Given the description of an element on the screen output the (x, y) to click on. 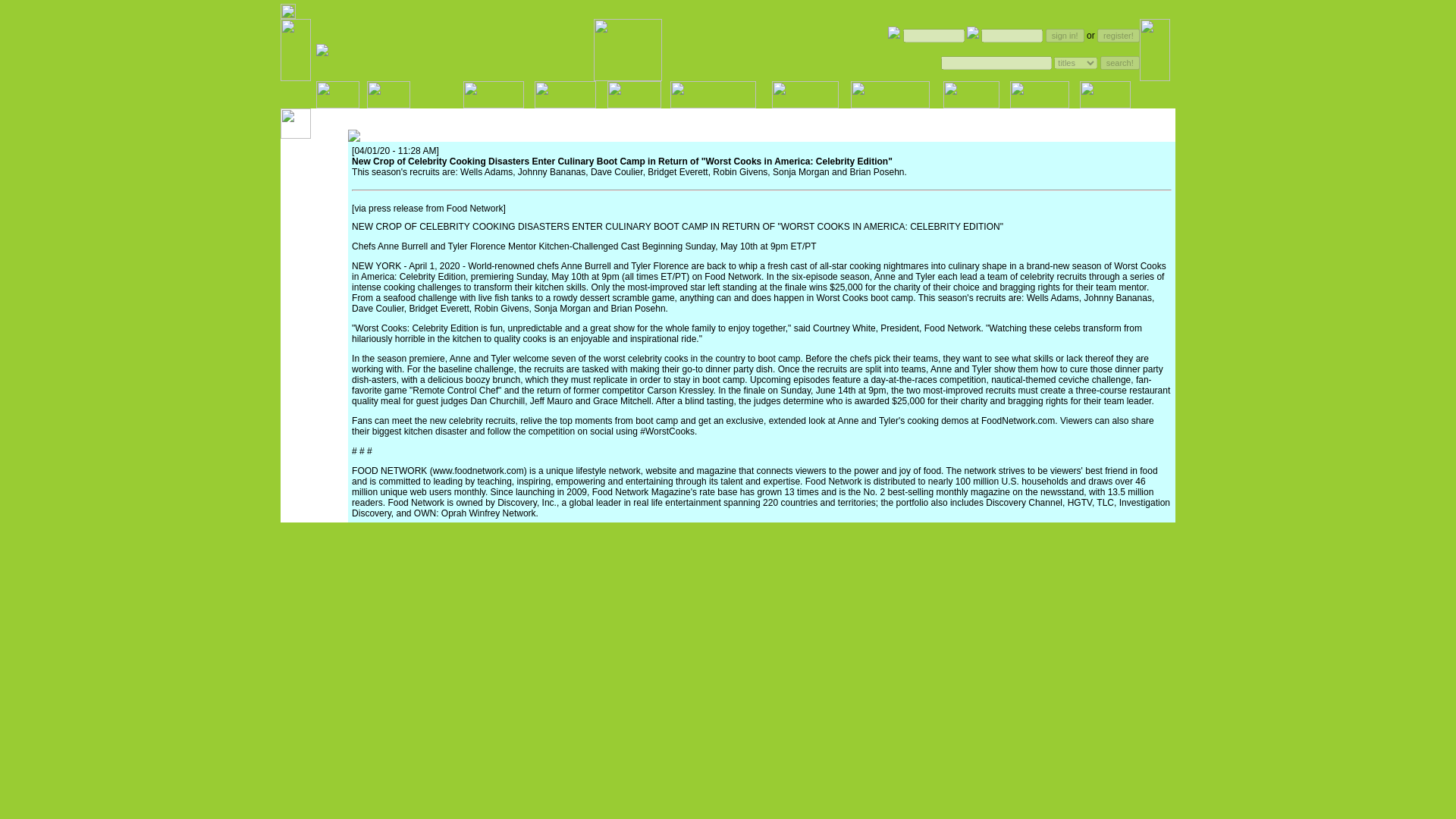
sign in! (1064, 35)
register! (1118, 35)
search! (1120, 62)
sign in! (1064, 35)
search! (1120, 62)
